Given the description of an element on the screen output the (x, y) to click on. 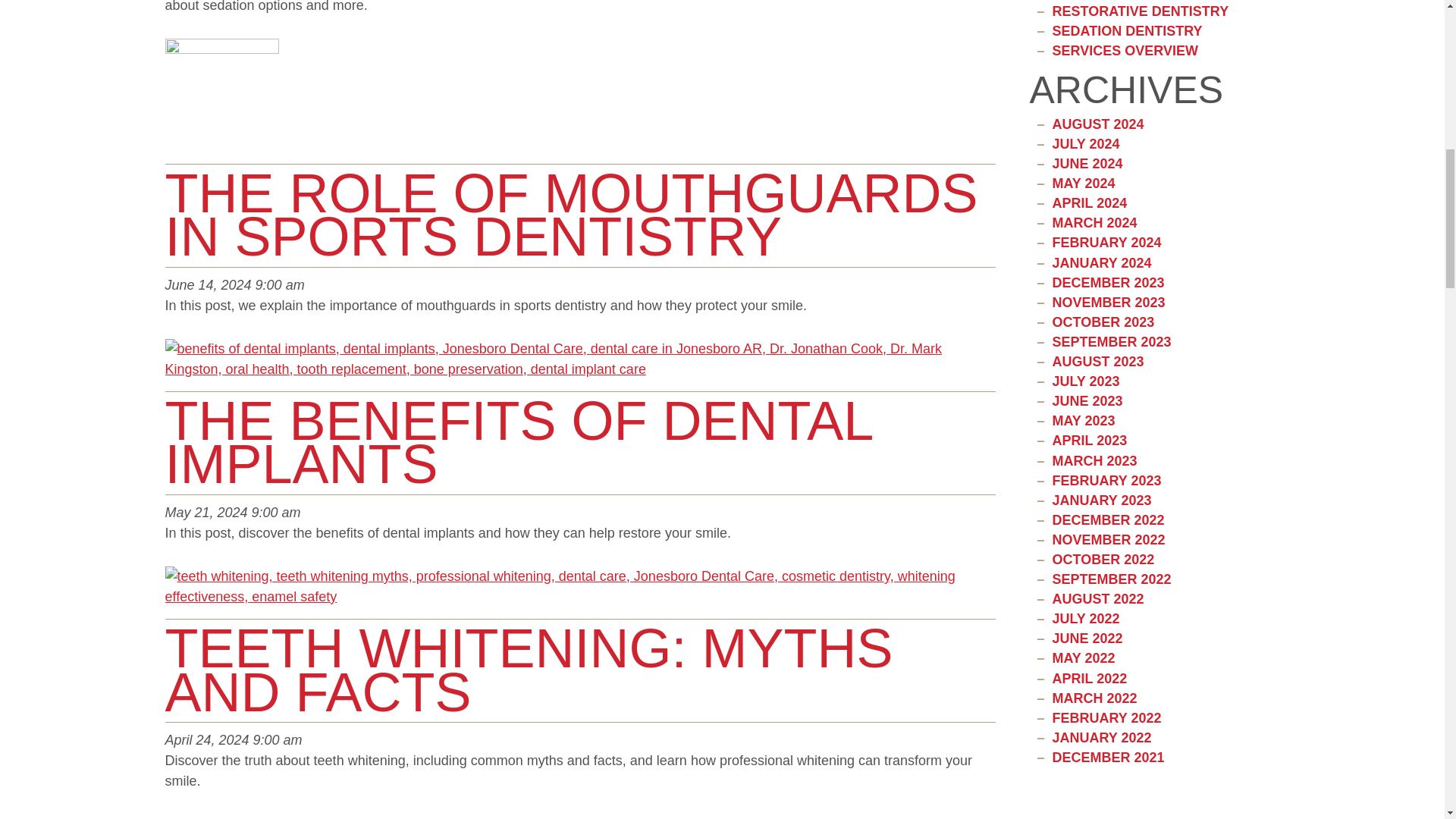
The Benefits of Dental Implants (518, 442)
Teeth Whitening: Myths and Facts (529, 670)
The Role of Mouthguards in Sports Dentistry (222, 99)
Teeth Whitening: Myths and Facts (580, 590)
The Benefits of Dental Implants (580, 363)
TEETH WHITENING: MYTHS AND FACTS (529, 670)
THE BENEFITS OF DENTAL IMPLANTS (518, 442)
THE ROLE OF MOUTHGUARDS IN SPORTS DENTISTRY (571, 214)
The Role of Mouthguards in Sports Dentistry (571, 214)
